Given the description of an element on the screen output the (x, y) to click on. 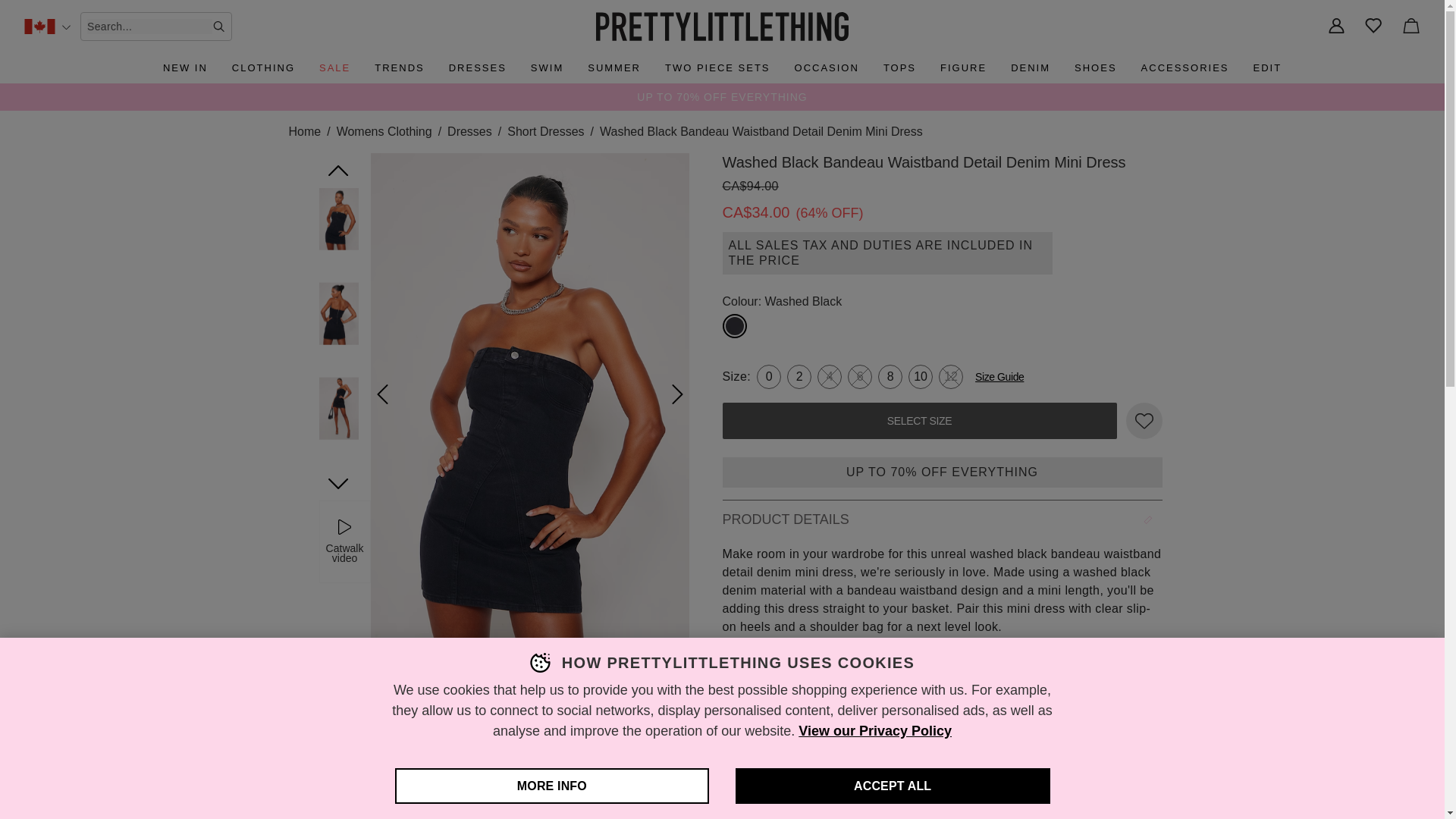
Search (218, 26)
CLOTHING (263, 68)
FIGURE (963, 68)
NEW IN (185, 68)
SHOES (1095, 68)
DRESSES (477, 68)
OCCASION (826, 68)
EDIT (1266, 68)
TOPS (899, 68)
SWIM (546, 68)
ACCESSORIES (1184, 68)
DENIM (1030, 68)
Cart (1410, 27)
My Wishlist (1373, 27)
TRENDS (398, 68)
